Given the description of an element on the screen output the (x, y) to click on. 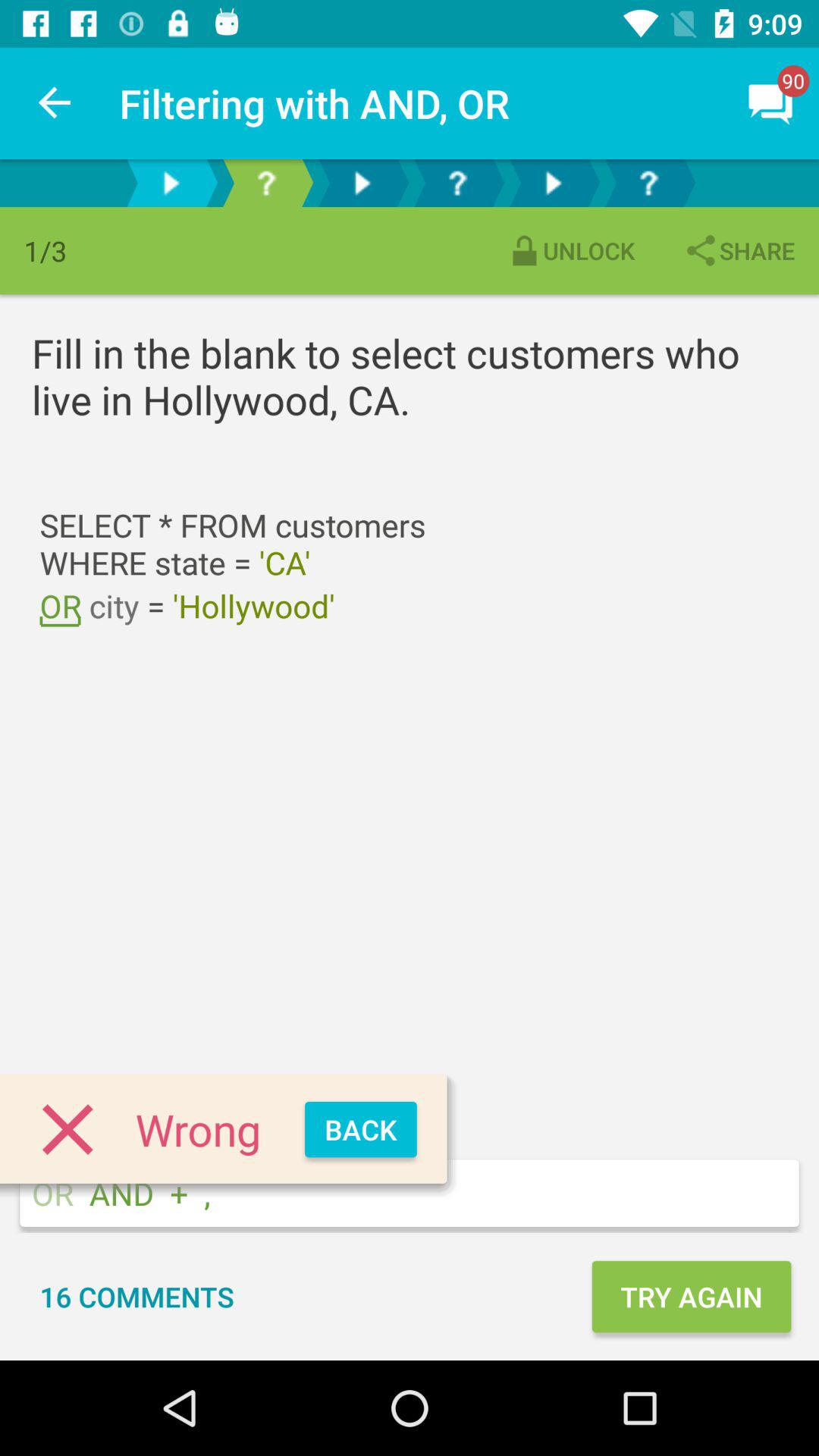
go to next page (361, 183)
